Given the description of an element on the screen output the (x, y) to click on. 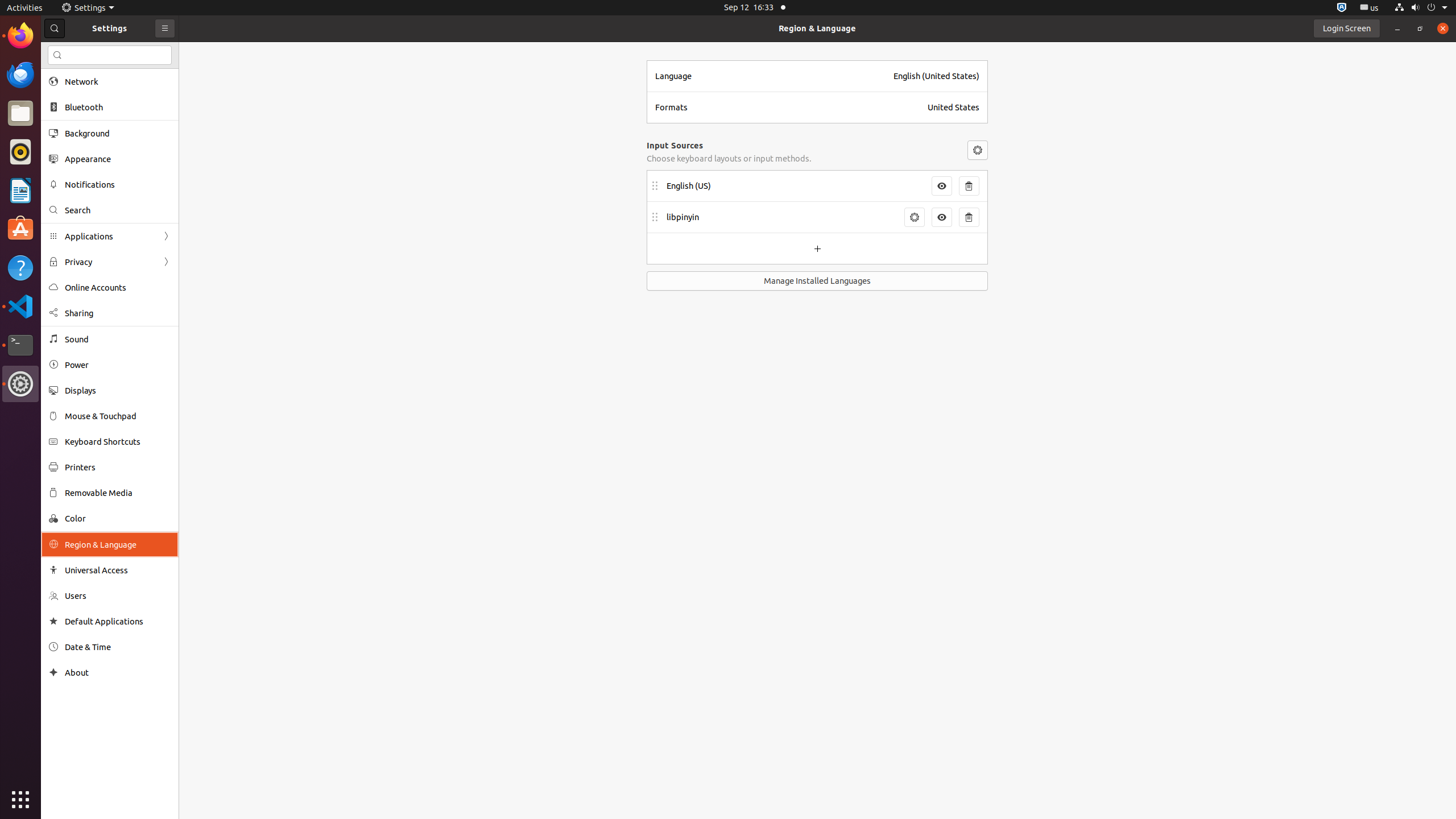
Users Element type: label (117, 595)
Region & Language Element type: label (816, 27)
li.txt Element type: label (146, 50)
Minimize Element type: push-button (1397, 27)
Settings Element type: menu (87, 7)
